Given the description of an element on the screen output the (x, y) to click on. 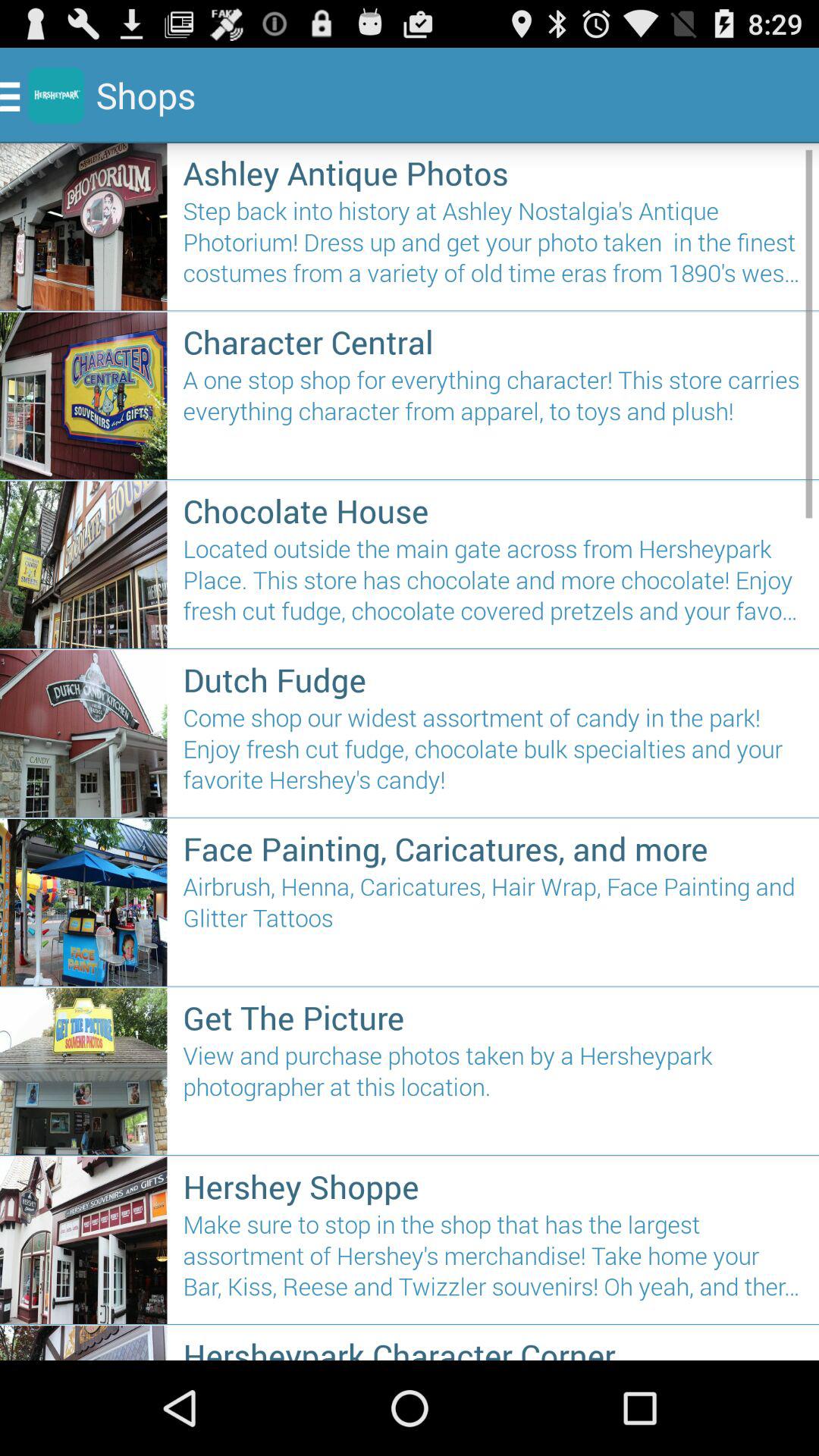
open the item below face painting caricatures (493, 924)
